Given the description of an element on the screen output the (x, y) to click on. 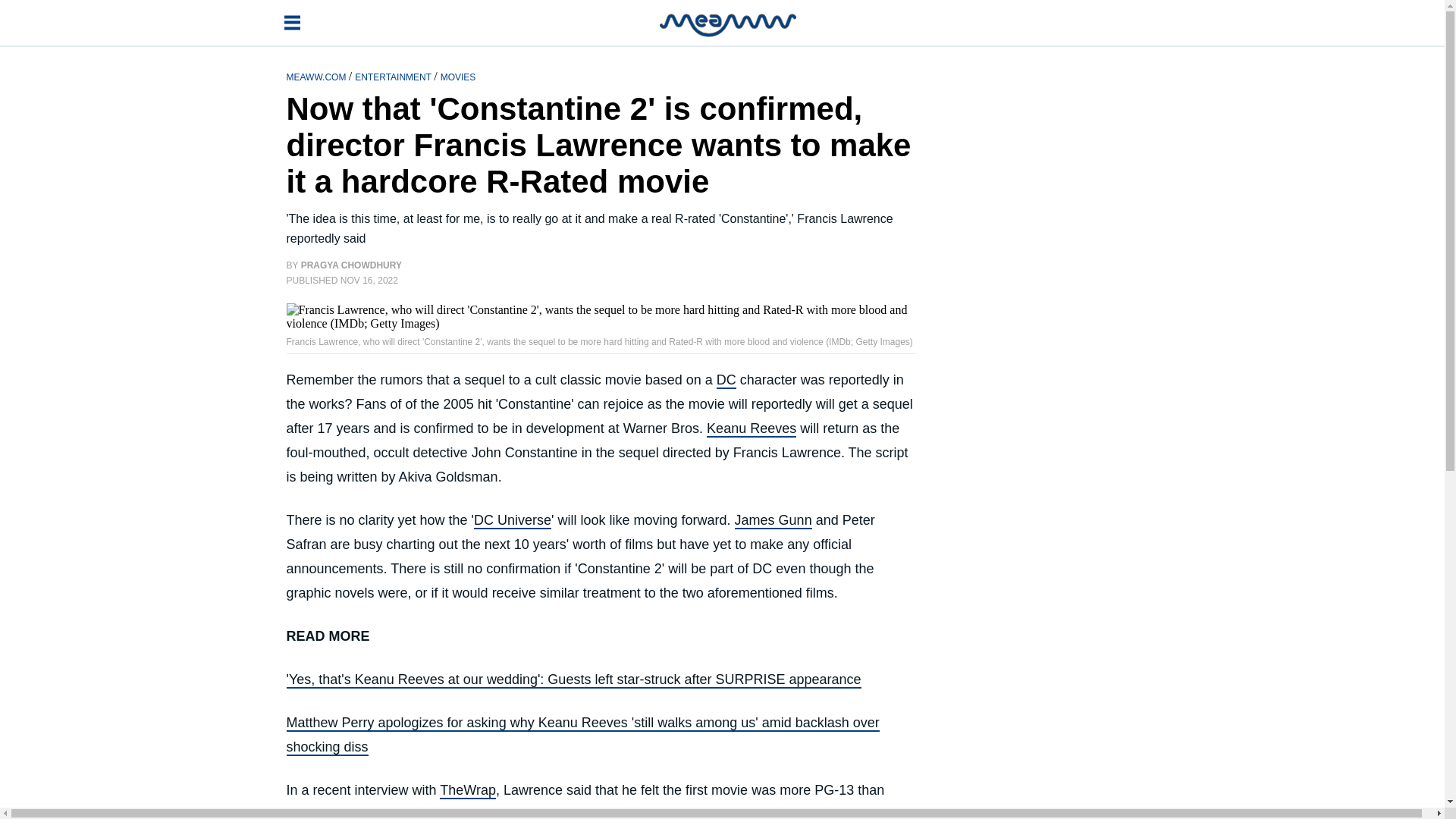
PRAGYA CHOWDHURY (351, 265)
DC (726, 380)
MOVIES (458, 75)
ENTERTAINMENT (394, 75)
Keanu Reeves (751, 428)
MEAWW.COM (317, 75)
James Gunn (773, 520)
DC Universe (512, 520)
TheWrap (467, 790)
